Given the description of an element on the screen output the (x, y) to click on. 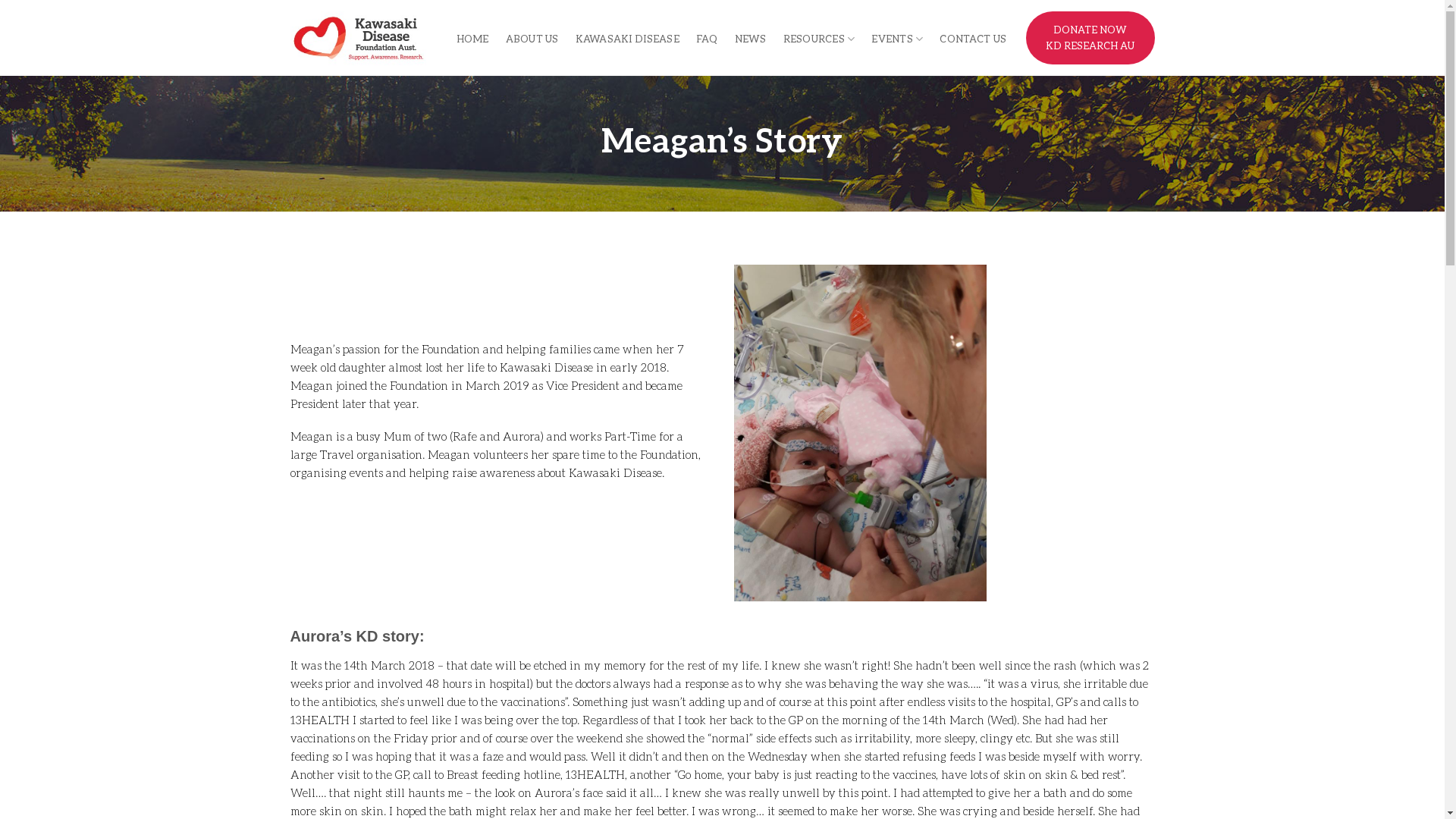
RESOURCES Element type: text (819, 39)
ABOUT US Element type: text (531, 39)
HOME Element type: text (472, 39)
NEWS Element type: text (750, 39)
DONATE NOW
KD RESEARCH AU Element type: text (1089, 37)
Skip to content Element type: text (0, 0)
FAQ Element type: text (707, 39)
KAWASAKI DISEASE Element type: text (627, 39)
EVENTS Element type: text (896, 39)
CONTACT US Element type: text (976, 39)
KD Foundation - KD Foundation Element type: hover (361, 37)
